Given the description of an element on the screen output the (x, y) to click on. 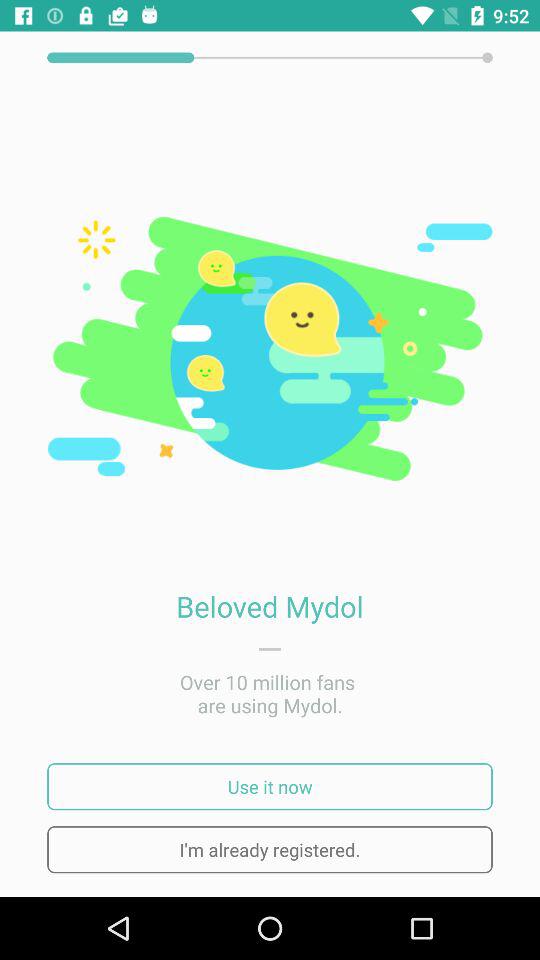
tap use it now icon (269, 786)
